Given the description of an element on the screen output the (x, y) to click on. 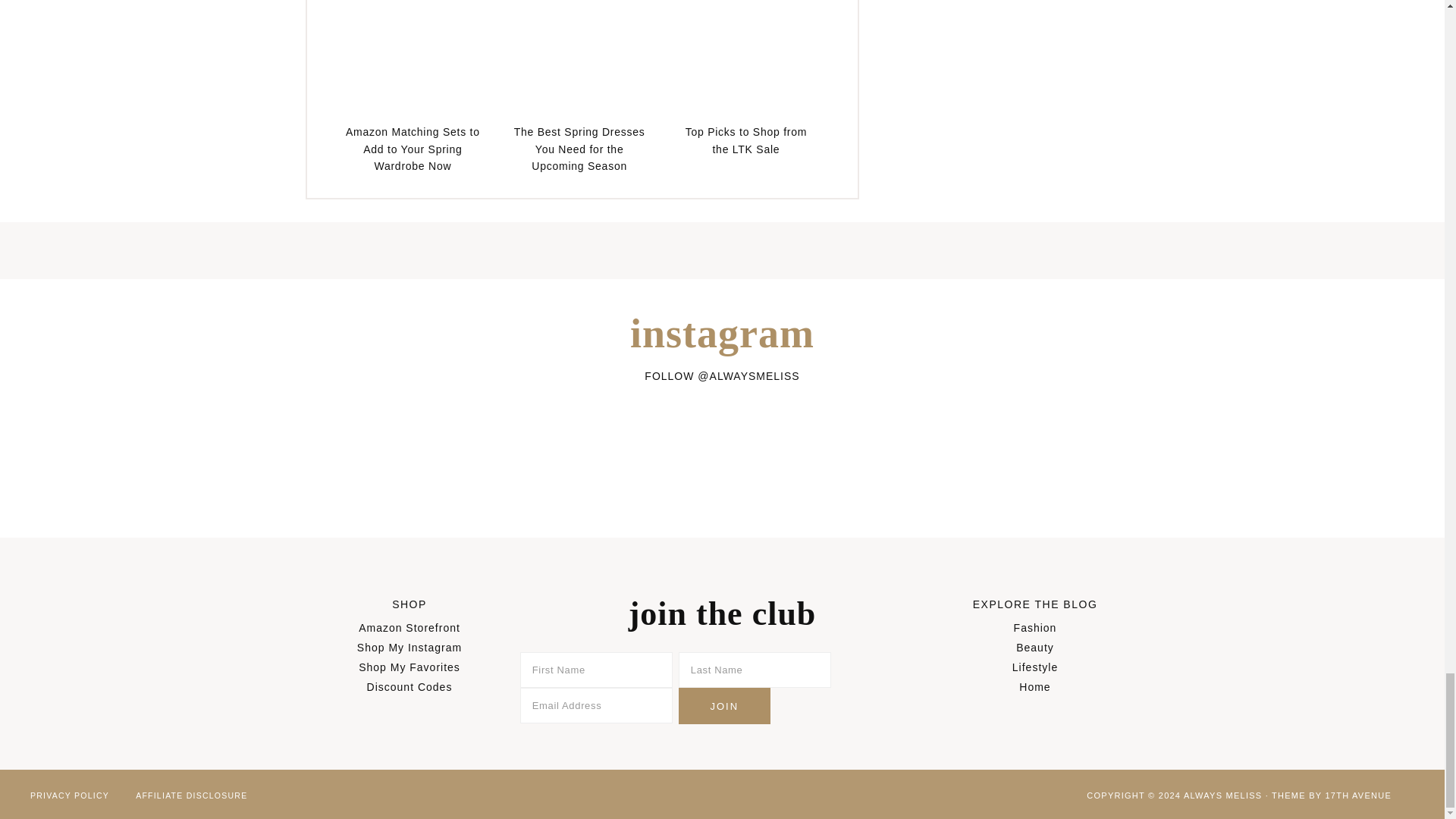
Join (724, 705)
